Given the description of an element on the screen output the (x, y) to click on. 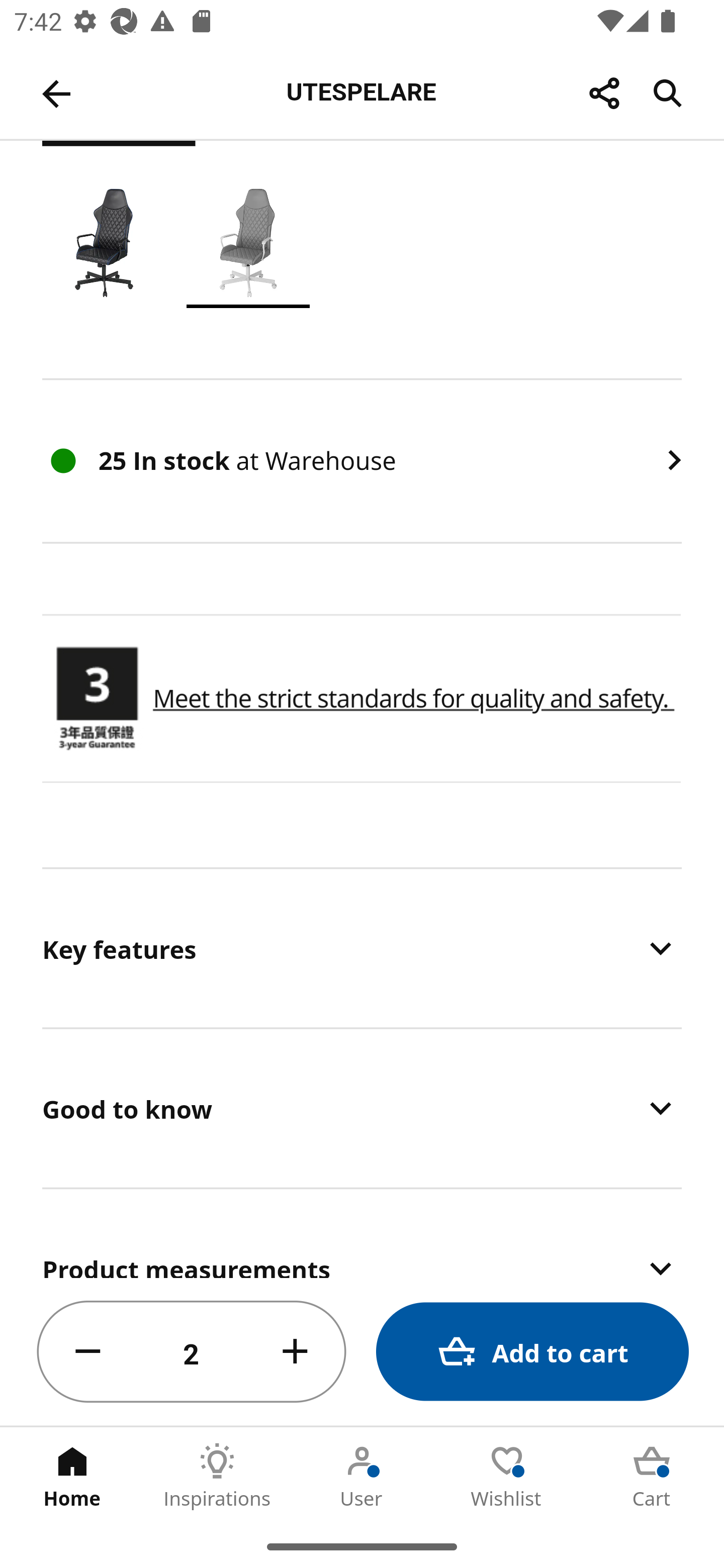
25 In stock at Warehouse (361, 460)
gaming-chairs-guarantee (96, 699)
Meet the strict standards for quality and safety.  (413, 698)
Key features (361, 947)
Good to know (361, 1107)
Product measurements (361, 1234)
Add to cart (531, 1352)
2 (191, 1352)
Home
Tab 1 of 5 (72, 1476)
Inspirations
Tab 2 of 5 (216, 1476)
User
Tab 3 of 5 (361, 1476)
Wishlist
Tab 4 of 5 (506, 1476)
Cart
Tab 5 of 5 (651, 1476)
